Given the description of an element on the screen output the (x, y) to click on. 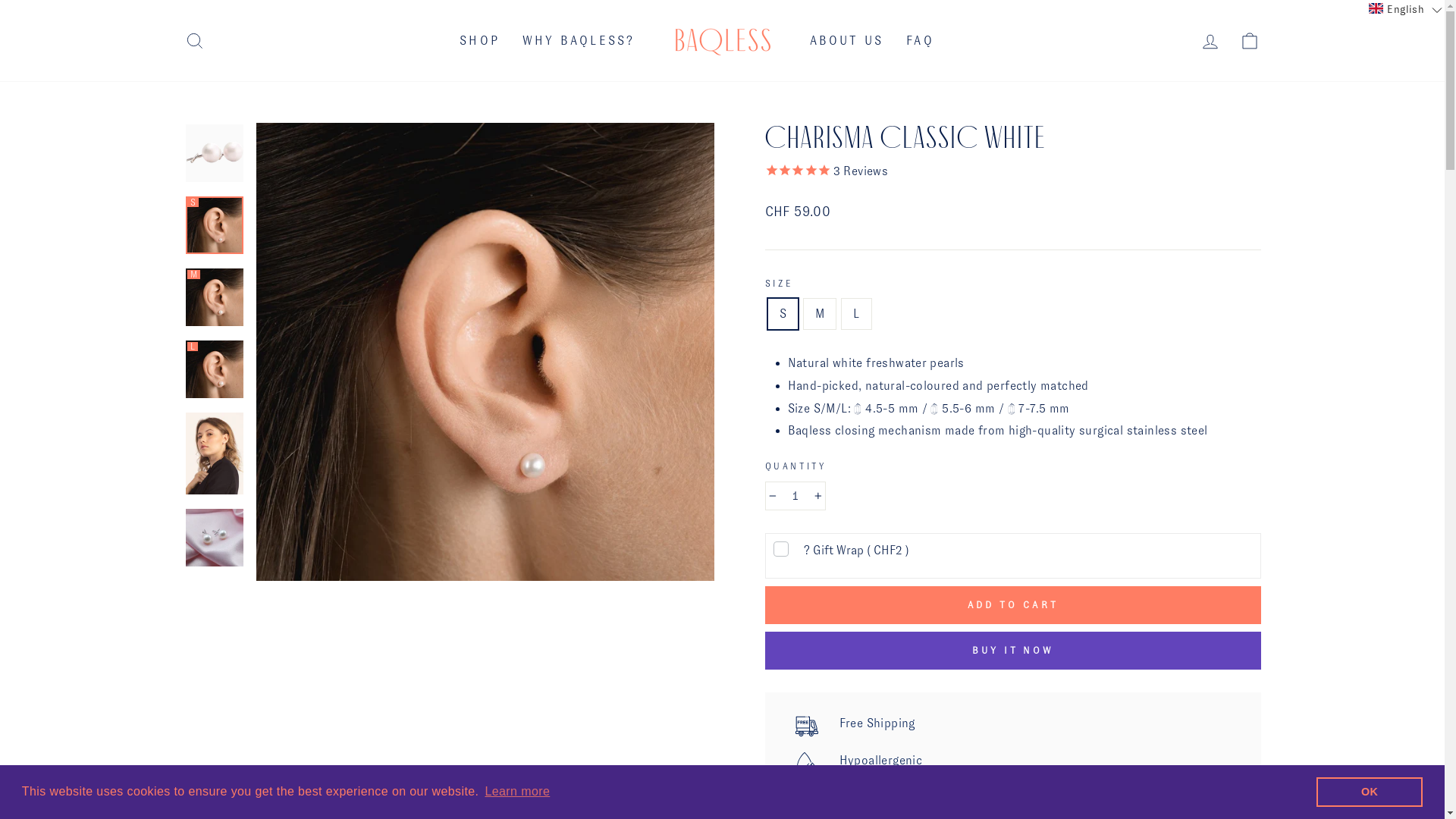
+ Element type: text (817, 495)
English Element type: text (1405, 9)
CART Element type: text (1249, 40)
WHY BAQLESS? Element type: text (578, 40)
S Element type: text (213, 225)
BUY IT NOW Element type: text (1012, 650)
ADD TO CART Element type: text (1012, 605)
SHOP Element type: text (479, 40)
L Element type: text (213, 369)
M Element type: text (213, 297)
Learn more Element type: text (517, 791)
SEARCH Element type: text (193, 40)
OK Element type: text (1369, 791)
FAQ Element type: text (919, 40)
ABOUT US Element type: text (845, 40)
LOG IN Element type: text (1210, 40)
Skip to content Element type: text (0, 0)
